Given the description of an element on the screen output the (x, y) to click on. 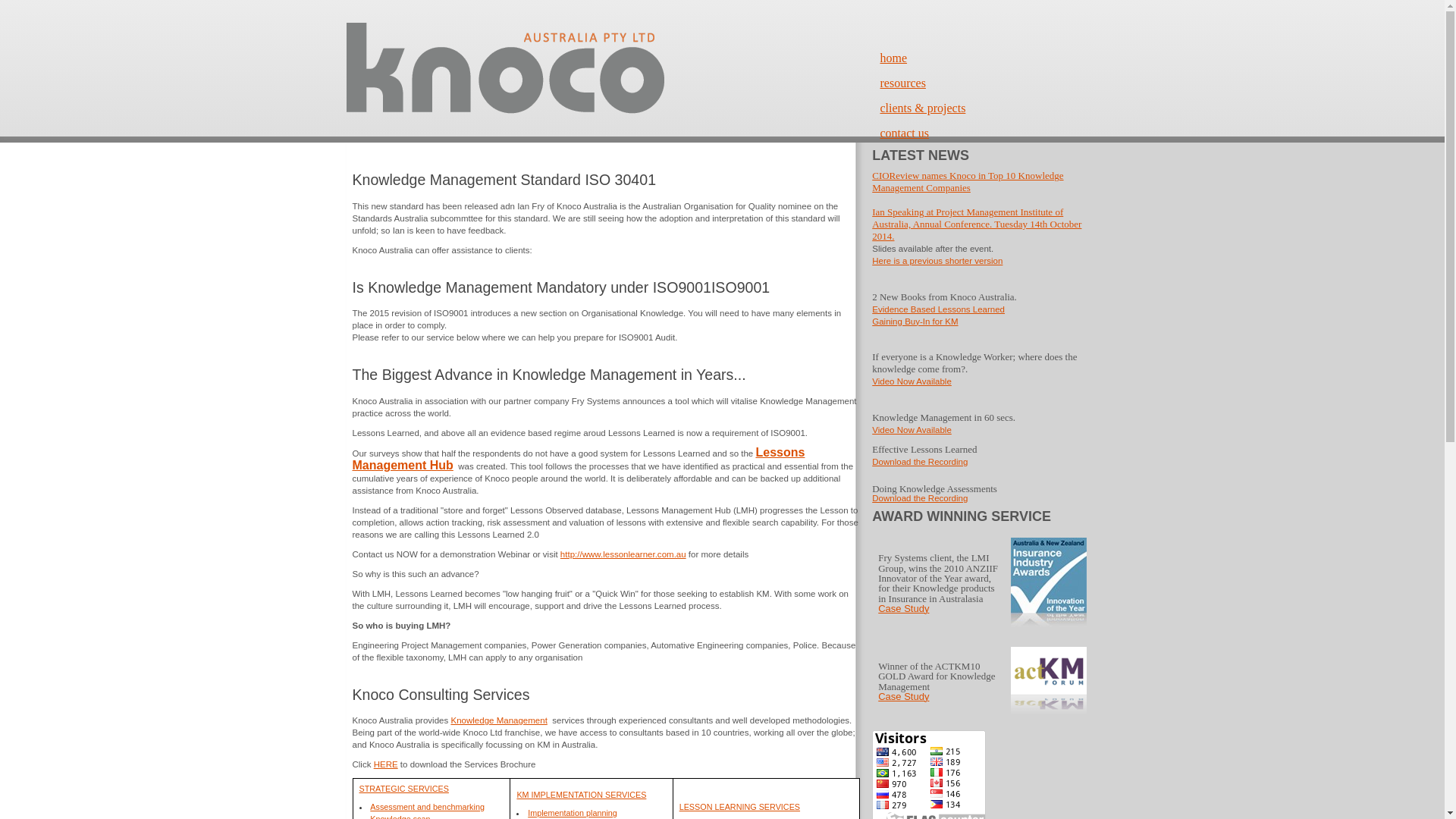
http://www.lessonlearner.com.au Element type: text (623, 553)
home Element type: text (892, 57)
Video Now Available Element type: text (911, 429)
Implementation planning Element type: text (572, 812)
contact us Element type: text (903, 132)
Case Study Element type: text (903, 609)
Evidence Based Lessons Learned Element type: text (938, 308)
Lessons Management Hub Element type: text (577, 459)
Download the Recording Element type: text (919, 497)
Here is a previous shorter version Element type: text (937, 260)
resources Element type: text (902, 82)
Download the Recording Element type: text (919, 461)
STRATEGIC SERVICES Element type: text (403, 788)
Knowledge Management Element type: text (498, 719)
Video Now Available Element type: text (911, 380)
Gaining Buy-In for KM Element type: text (914, 321)
HERE Element type: text (385, 763)
clients & projects Element type: text (922, 107)
LESSON LEARNING SERVICES Element type: text (739, 806)
KM IMPLEMENTATION SERVICES Element type: text (581, 794)
Case Study Element type: text (903, 697)
Assessment and benchmarking Element type: text (427, 806)
